Given the description of an element on the screen output the (x, y) to click on. 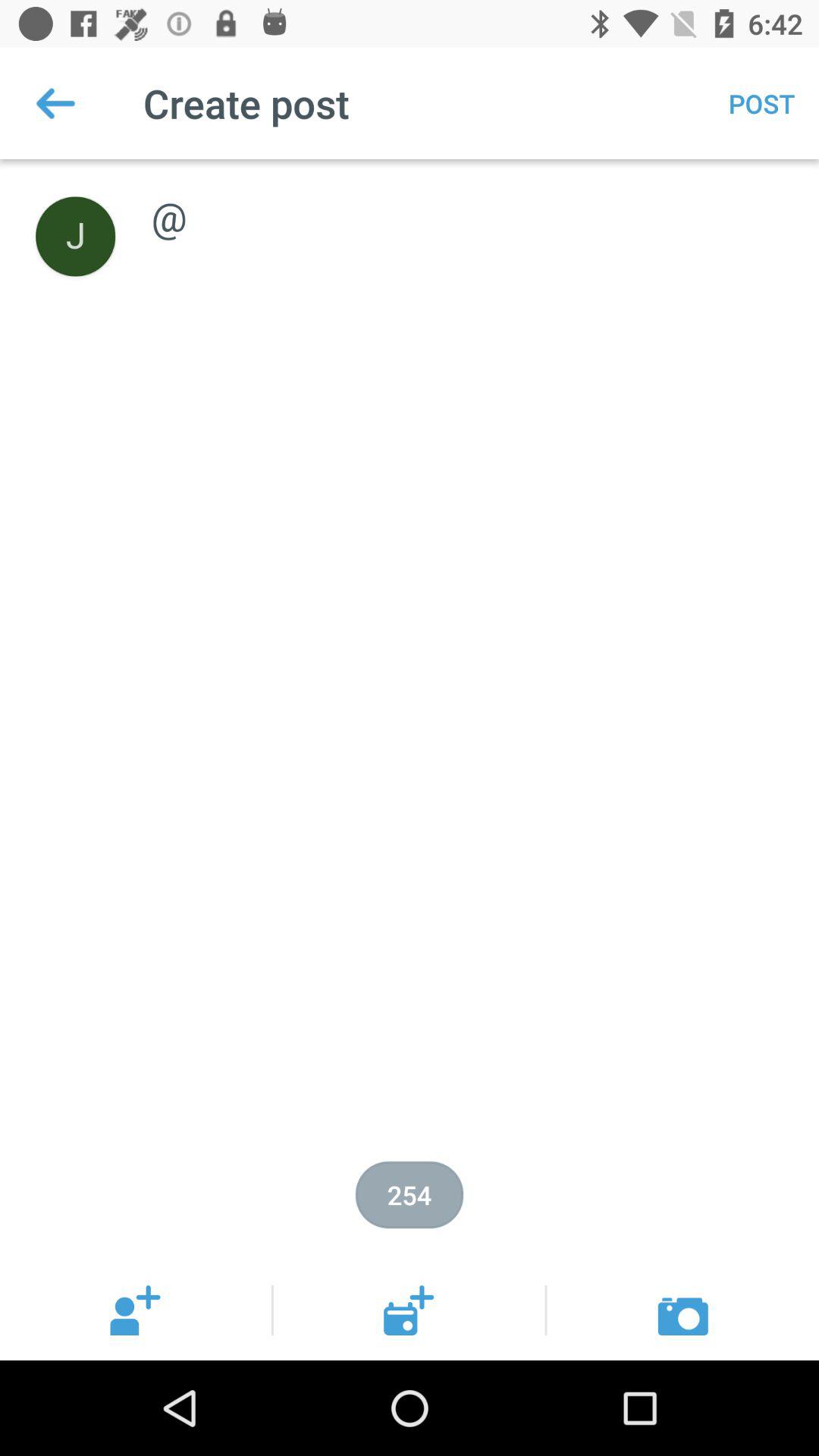
press 254 icon (409, 1194)
